Given the description of an element on the screen output the (x, y) to click on. 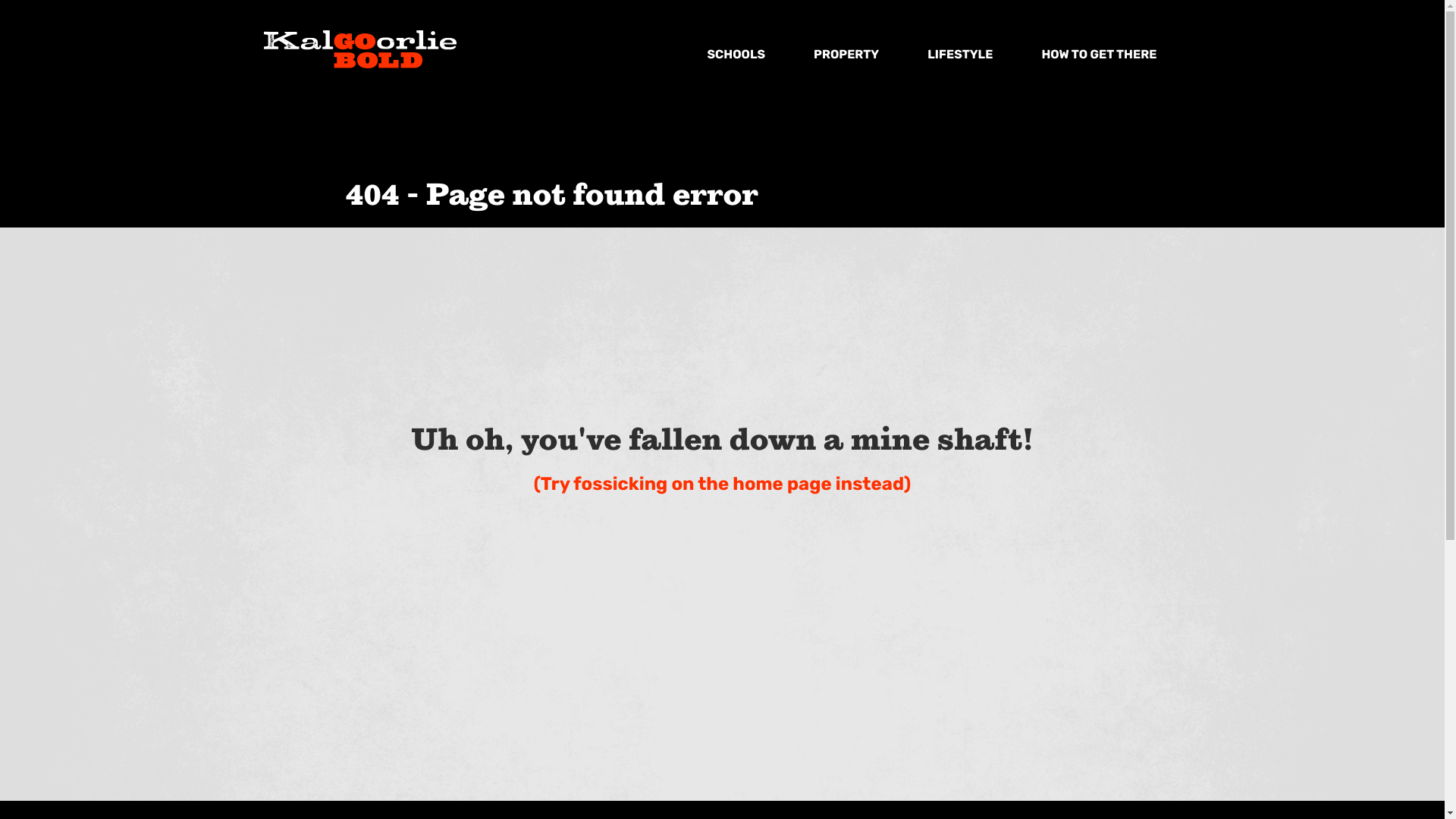
PROPERTY Element type: text (846, 55)
HOW TO GET THERE Element type: text (1098, 55)
SCHOOLS Element type: text (735, 55)
LIFESTYLE Element type: text (959, 55)
(Try fossicking on the home page instead) Element type: text (722, 485)
